Given the description of an element on the screen output the (x, y) to click on. 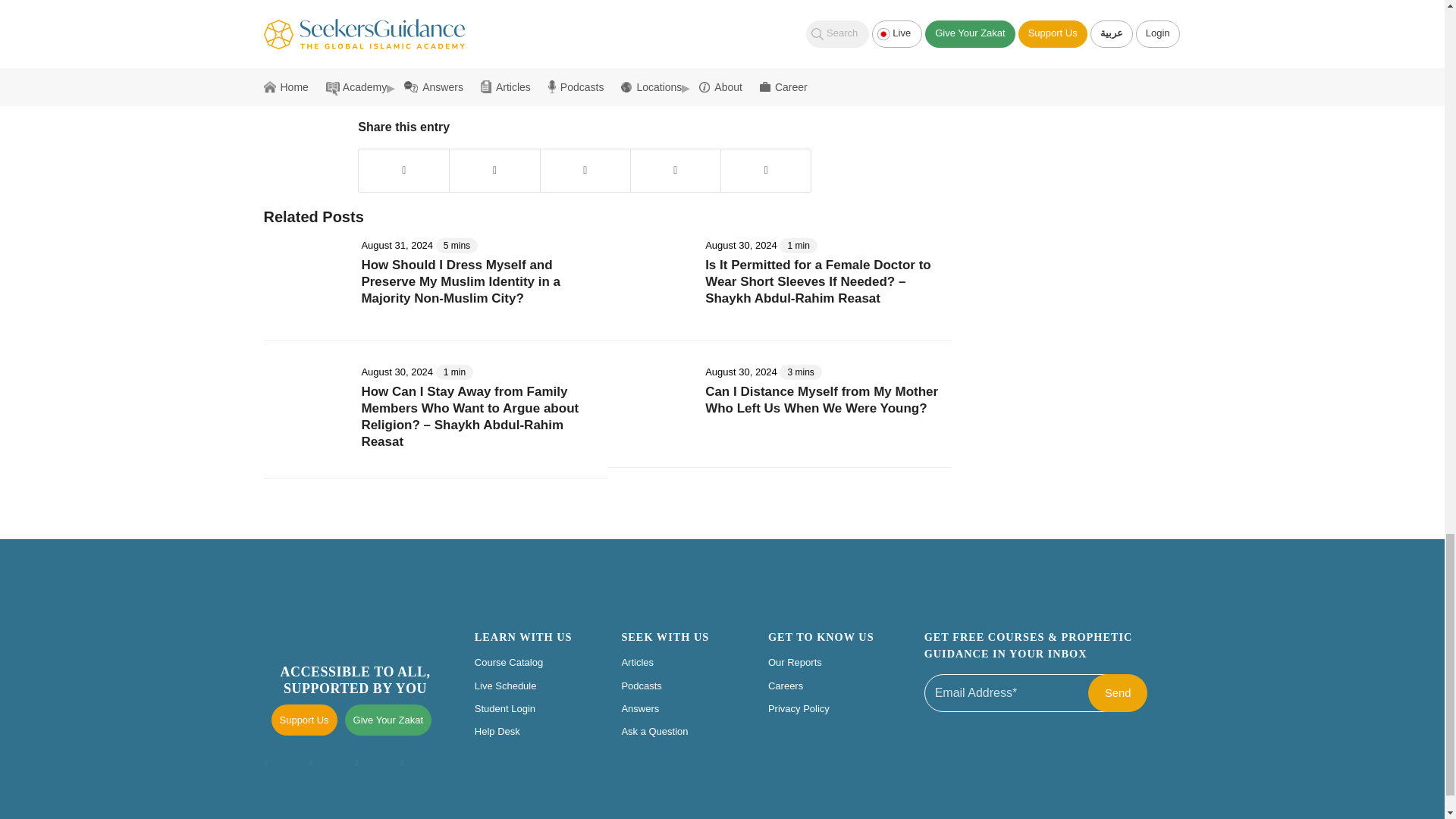
cover (437, 68)
send (1117, 692)
covering at home (495, 68)
convert (403, 68)
